Given the description of an element on the screen output the (x, y) to click on. 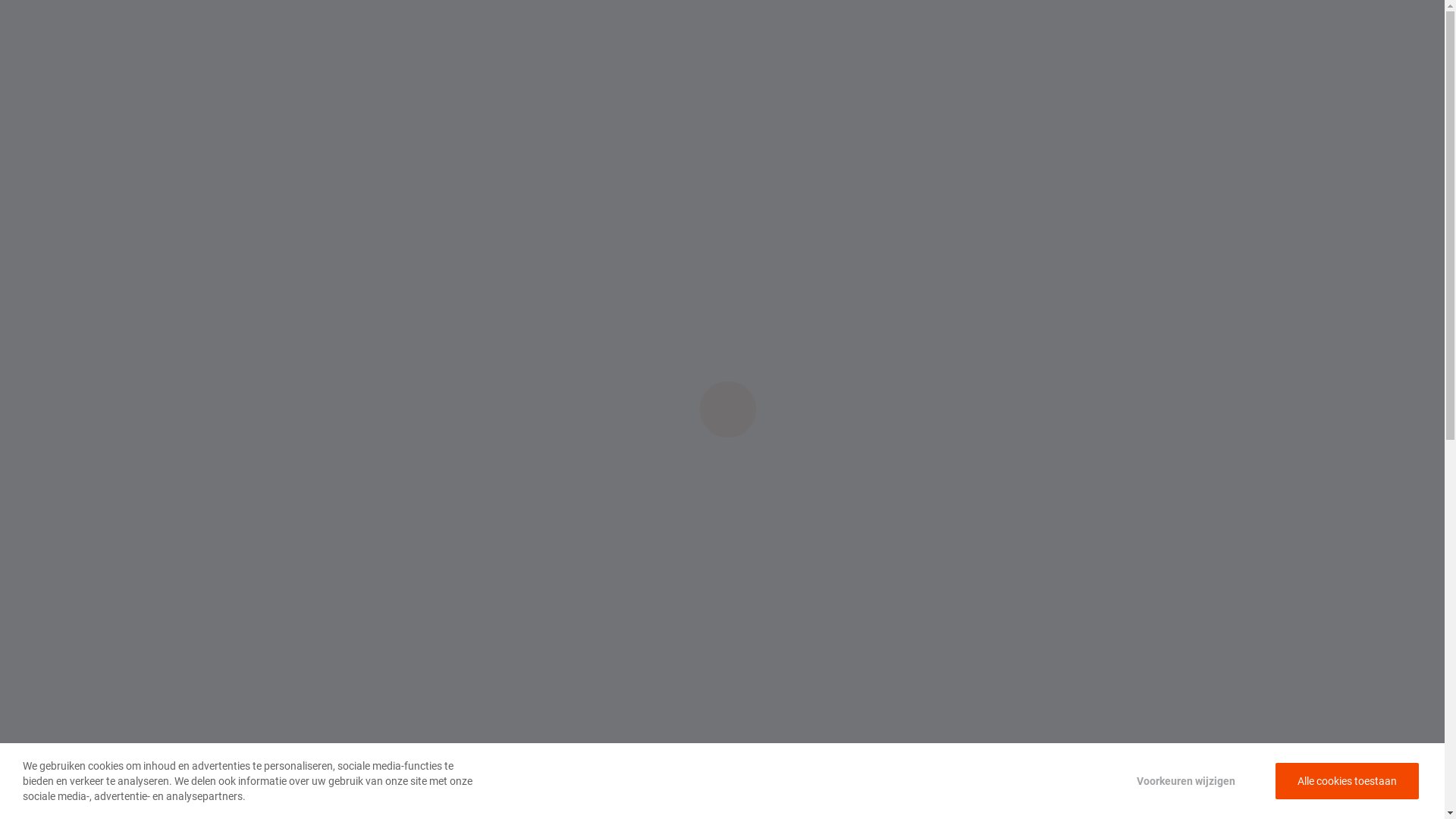
METALEN MAATWERK Element type: text (791, 24)
OFFERTE AANVRAGEN Element type: text (1062, 23)
OVER ONS Element type: text (885, 24)
CONTACT Element type: text (950, 24)
